Given the description of an element on the screen output the (x, y) to click on. 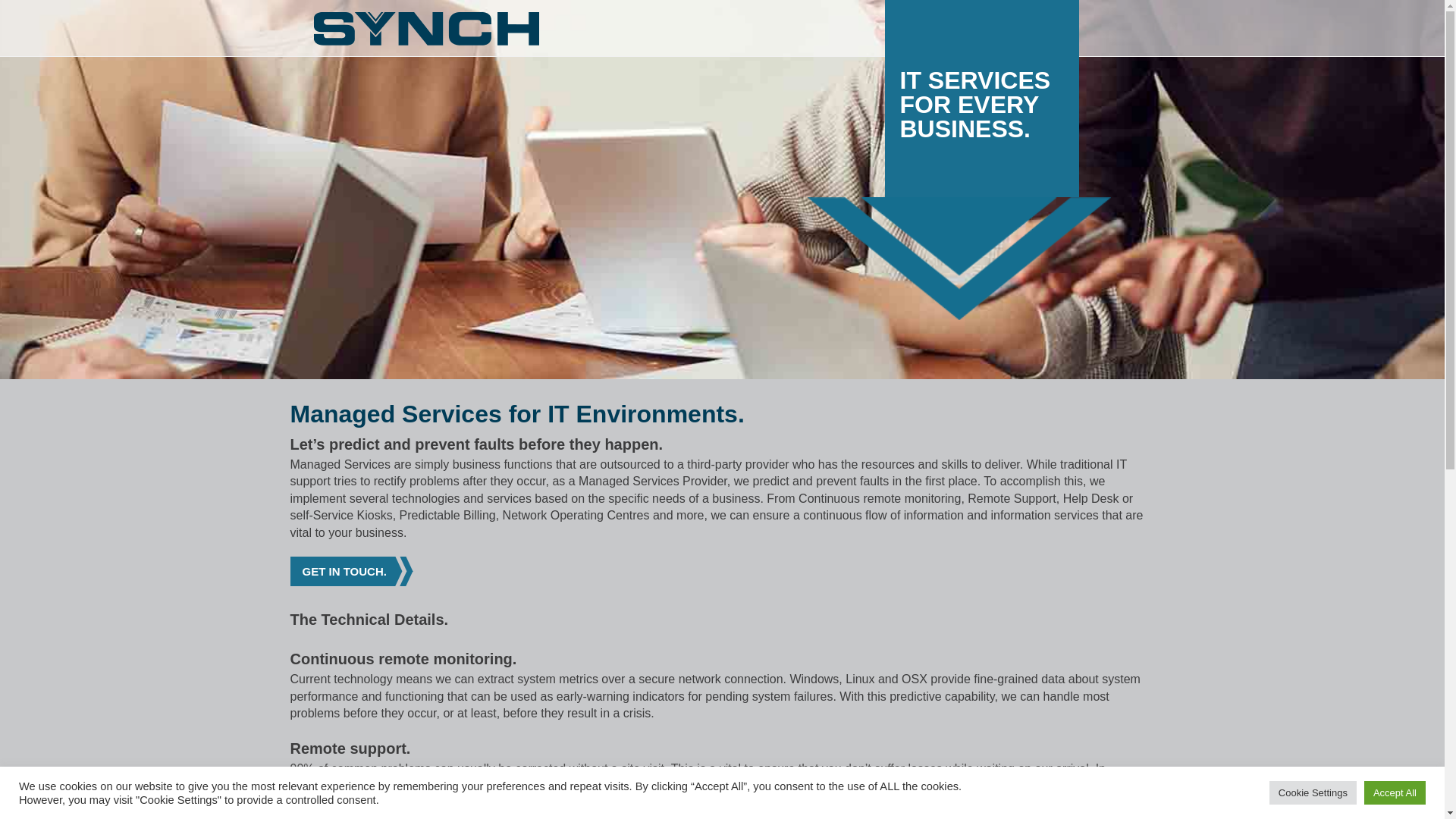
Cookie Settings Element type: text (1312, 792)
Accept All Element type: text (1394, 792)
GET IN TOUCH. Element type: text (346, 571)
